Given the description of an element on the screen output the (x, y) to click on. 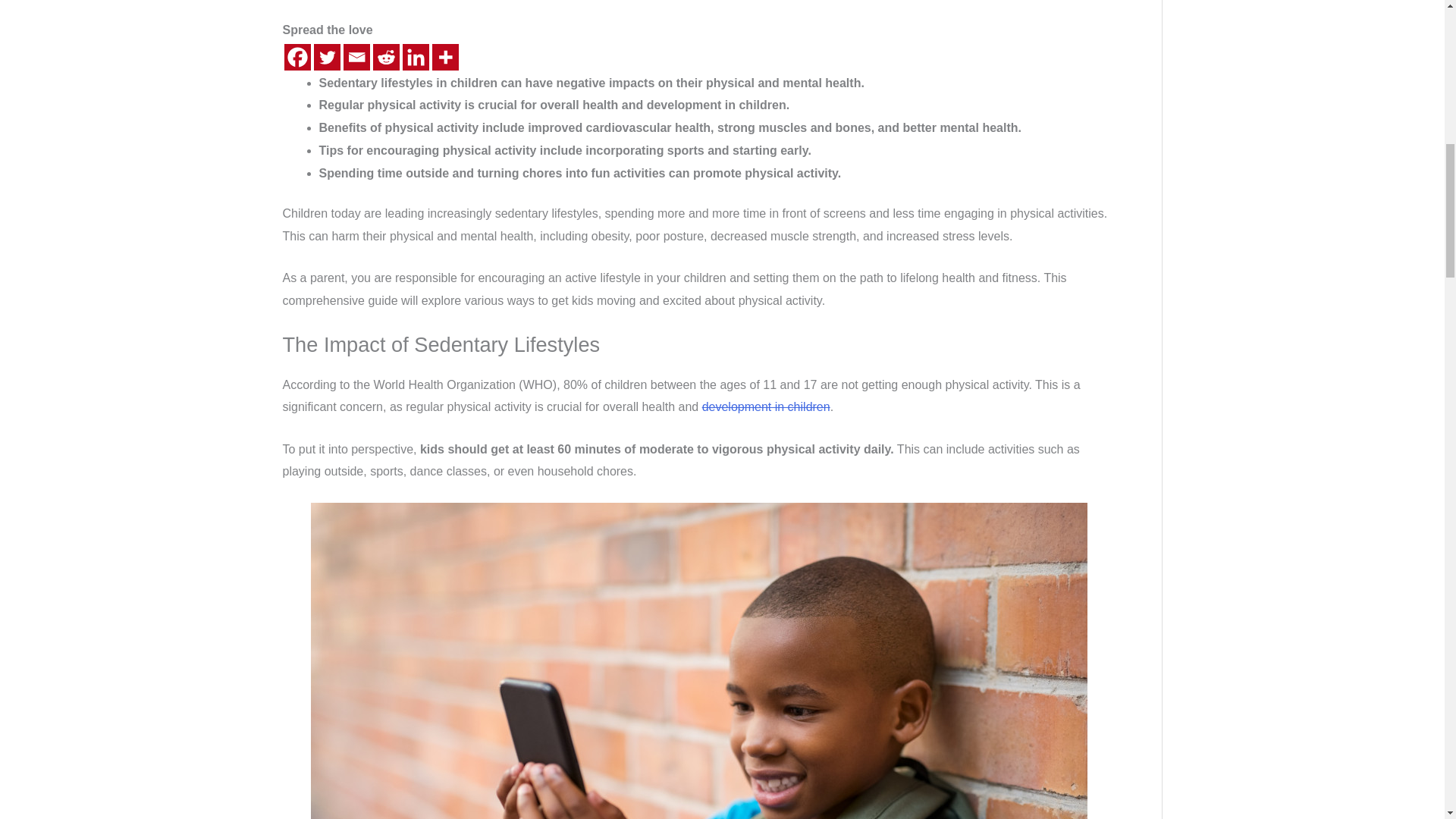
development in children (765, 406)
Linkedin (414, 57)
Reddit (385, 57)
Facebook (296, 57)
Email (355, 57)
More (445, 57)
Twitter (327, 57)
